Given the description of an element on the screen output the (x, y) to click on. 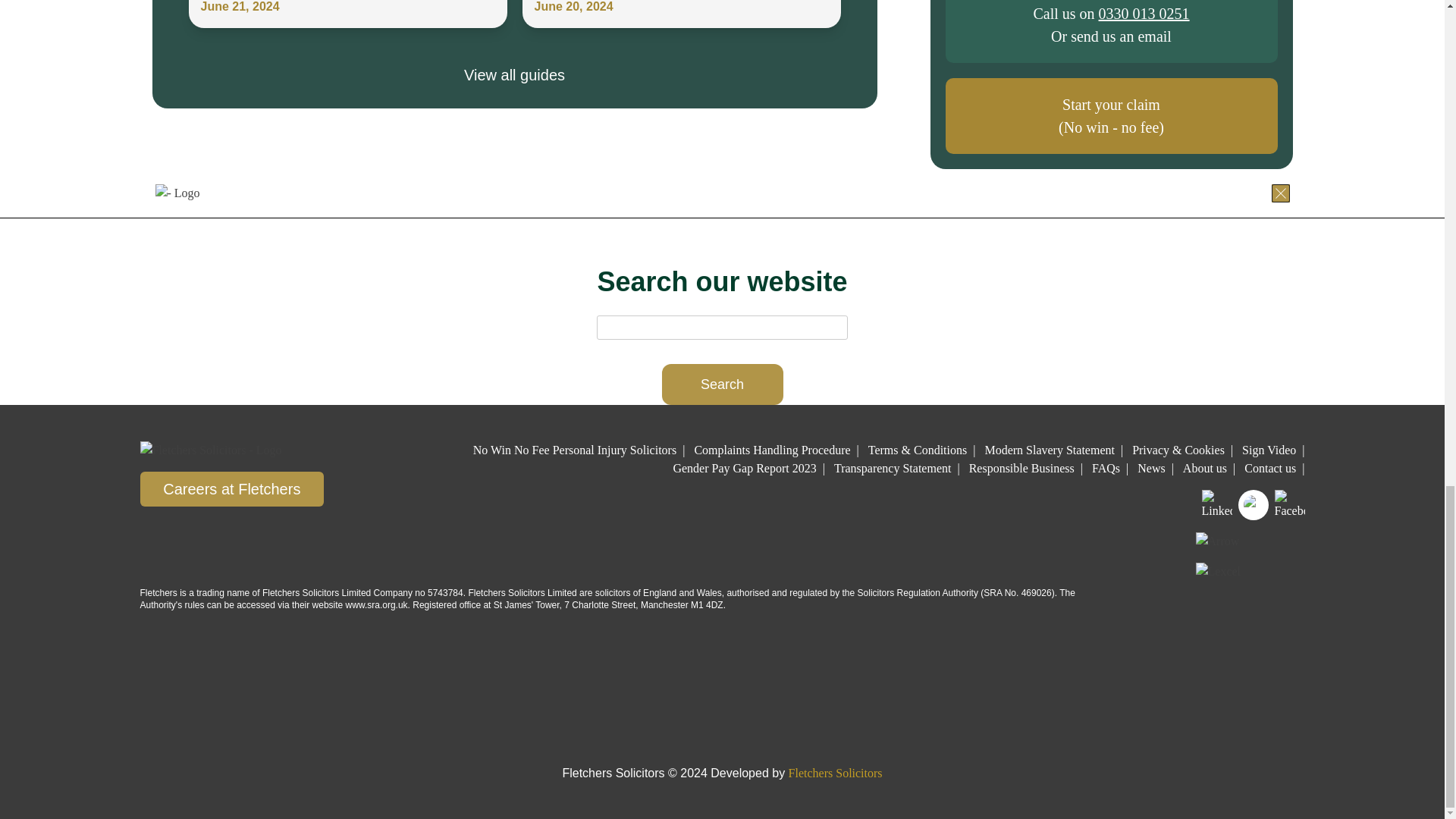
Fletchers (435, 193)
Search (722, 383)
